Given the description of an element on the screen output the (x, y) to click on. 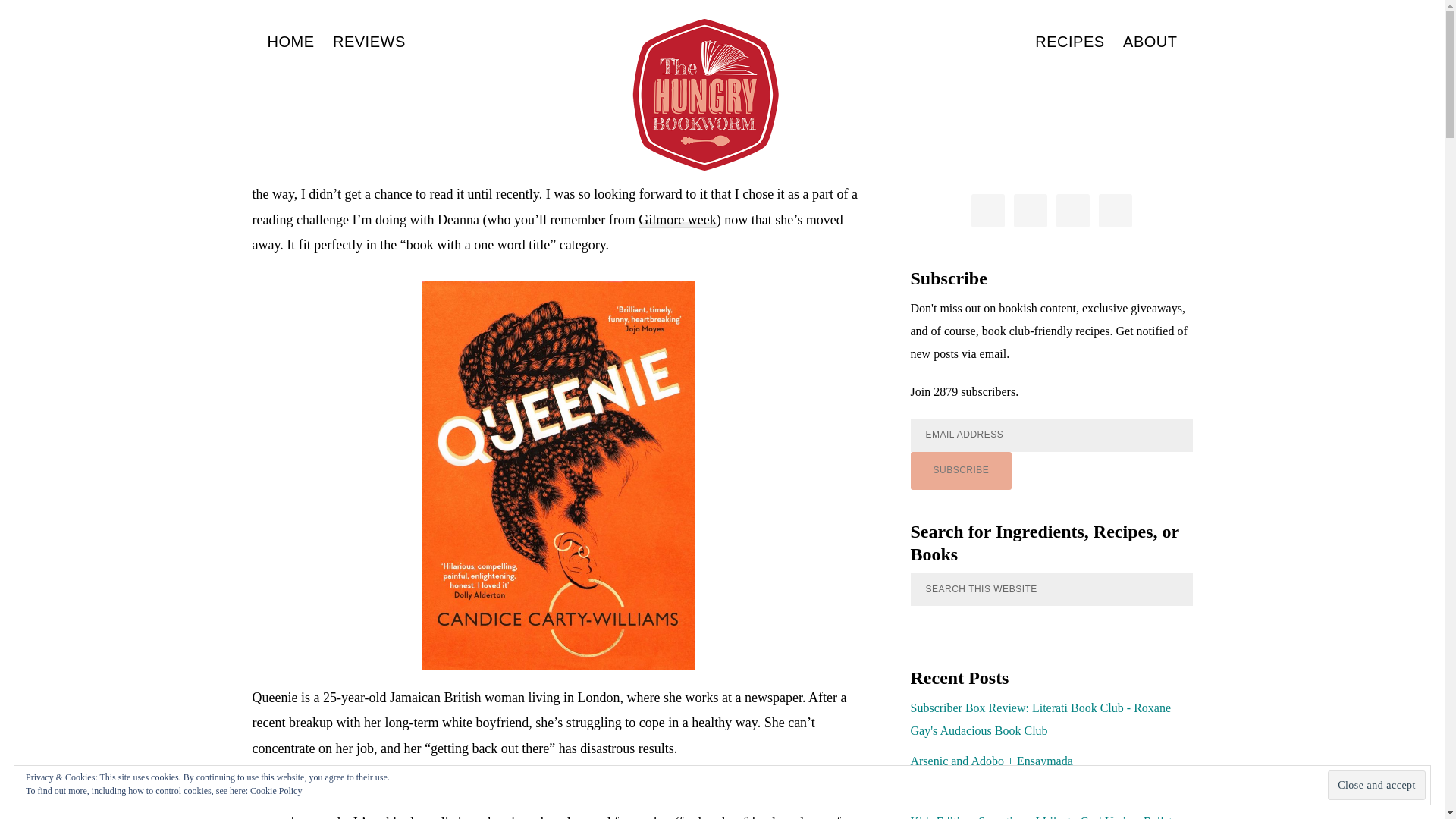
Megan (564, 83)
Close and accept (1376, 785)
Subscribe (960, 470)
Book of the Month (628, 168)
1 Comment (630, 83)
Queenie (515, 168)
RECIPES (1069, 40)
ABOUT (1150, 40)
HOME (290, 40)
Gilmore week (677, 220)
REVIEWS (368, 40)
